Given the description of an element on the screen output the (x, y) to click on. 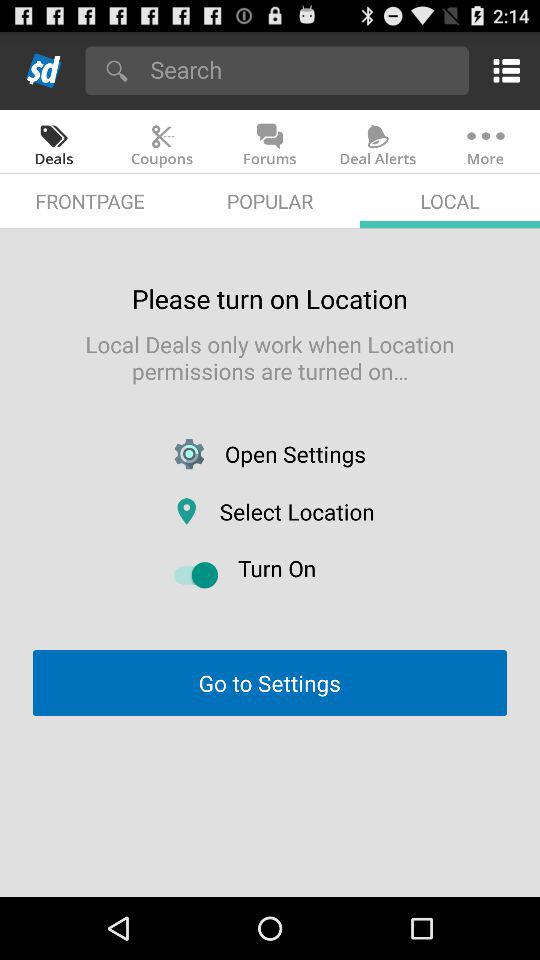
search bar (302, 69)
